Given the description of an element on the screen output the (x, y) to click on. 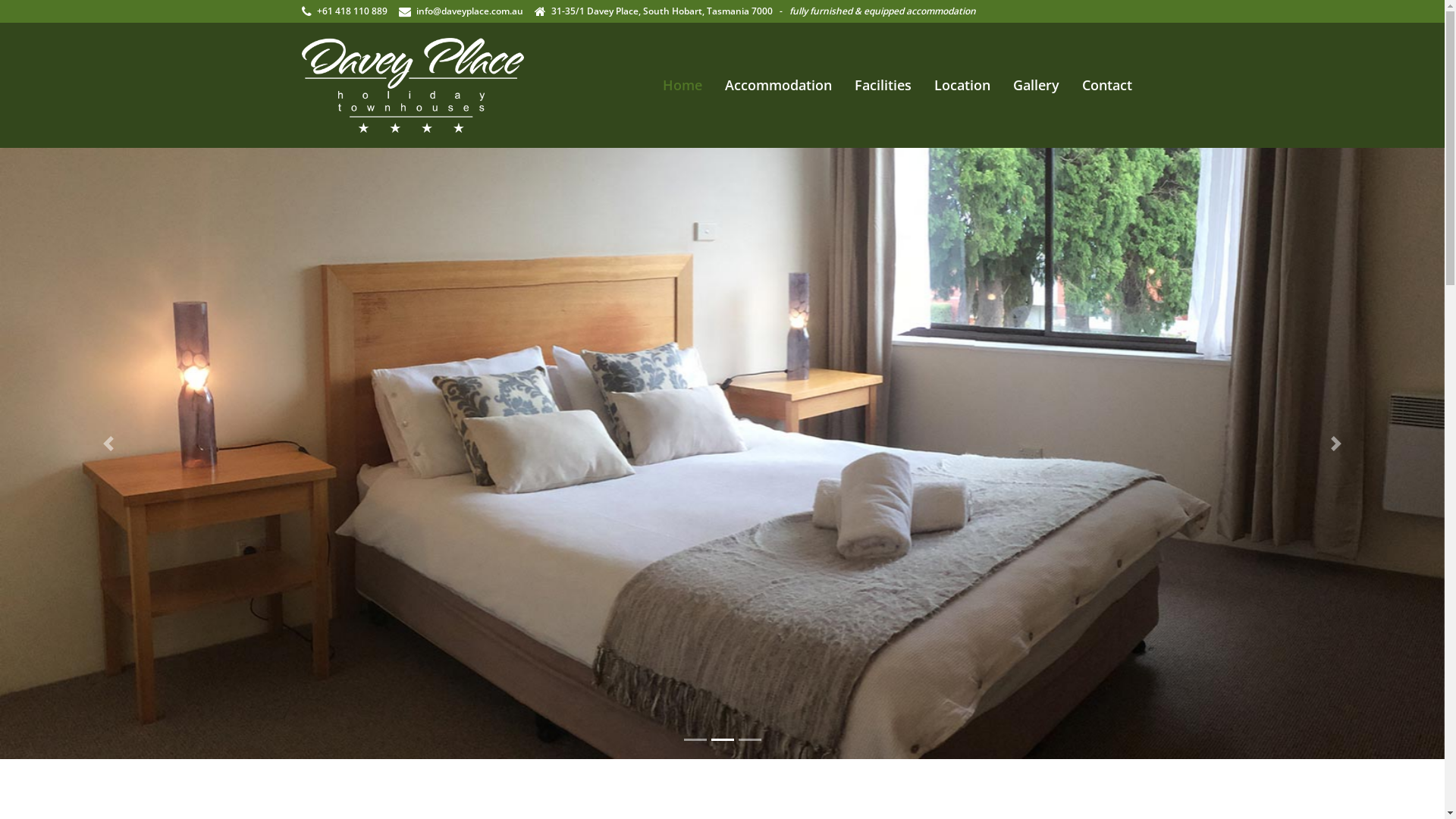
Home
(current) Element type: text (682, 85)
Gallery Element type: text (1036, 85)
Accommodation Element type: text (777, 85)
Next Element type: text (1335, 443)
info@daveyplace.com.au Element type: text (468, 10)
Facilities Element type: text (881, 85)
Previous Element type: text (108, 443)
Contact Element type: text (1106, 85)
Location Element type: text (962, 85)
